Given the description of an element on the screen output the (x, y) to click on. 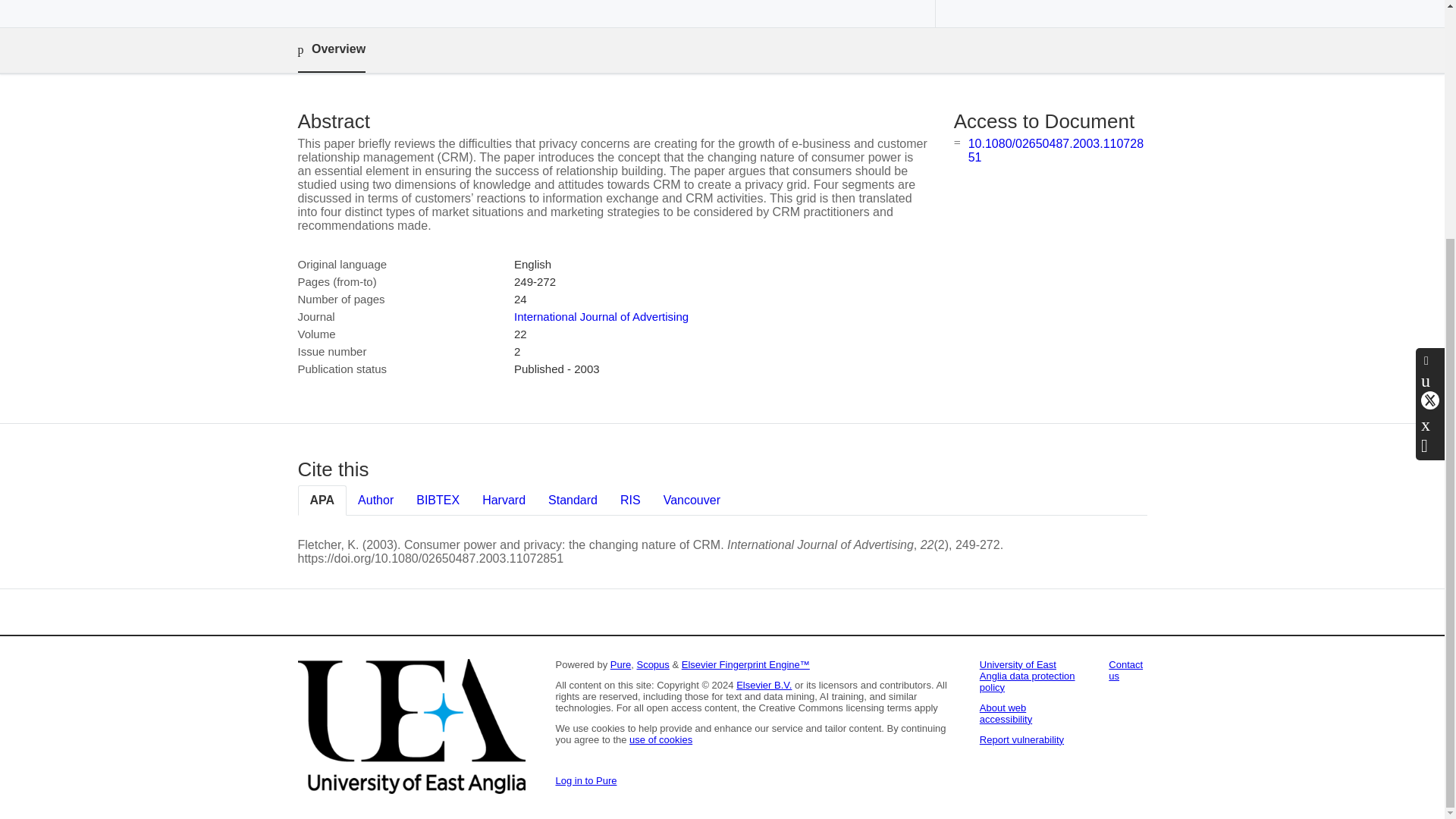
use of cookies (660, 739)
Pure (620, 664)
Contact us (1125, 670)
Scopus (652, 664)
Log in to Pure (584, 780)
About web accessibility (1005, 712)
Report vulnerability (1021, 739)
University of East Anglia data protection policy (1027, 675)
International Journal of Advertising (600, 316)
Overview (331, 49)
